Given the description of an element on the screen output the (x, y) to click on. 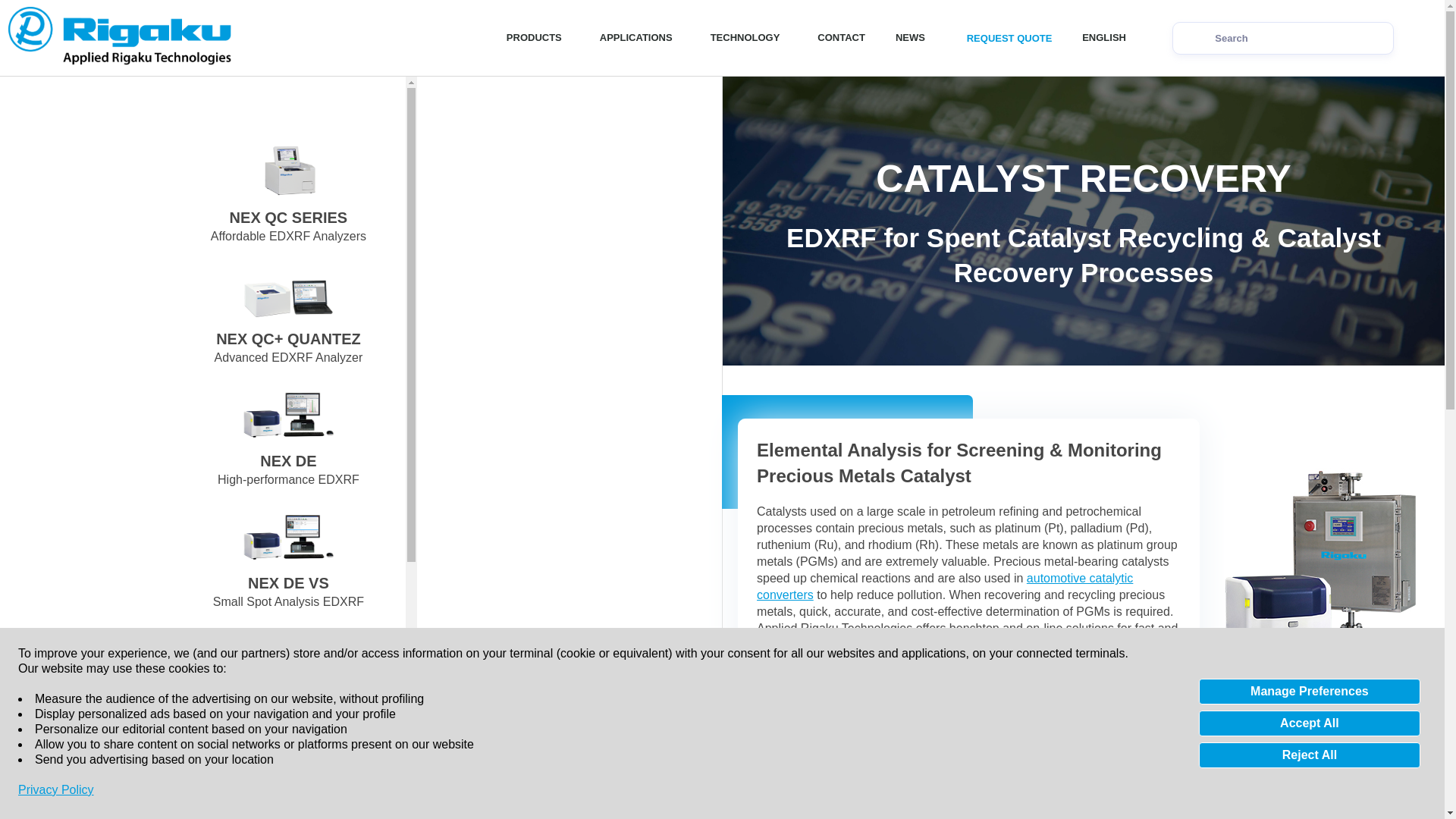
Reject All (1309, 755)
Privacy Policy (55, 789)
Manage Preferences (1309, 691)
Accept All (1309, 723)
